Given the description of an element on the screen output the (x, y) to click on. 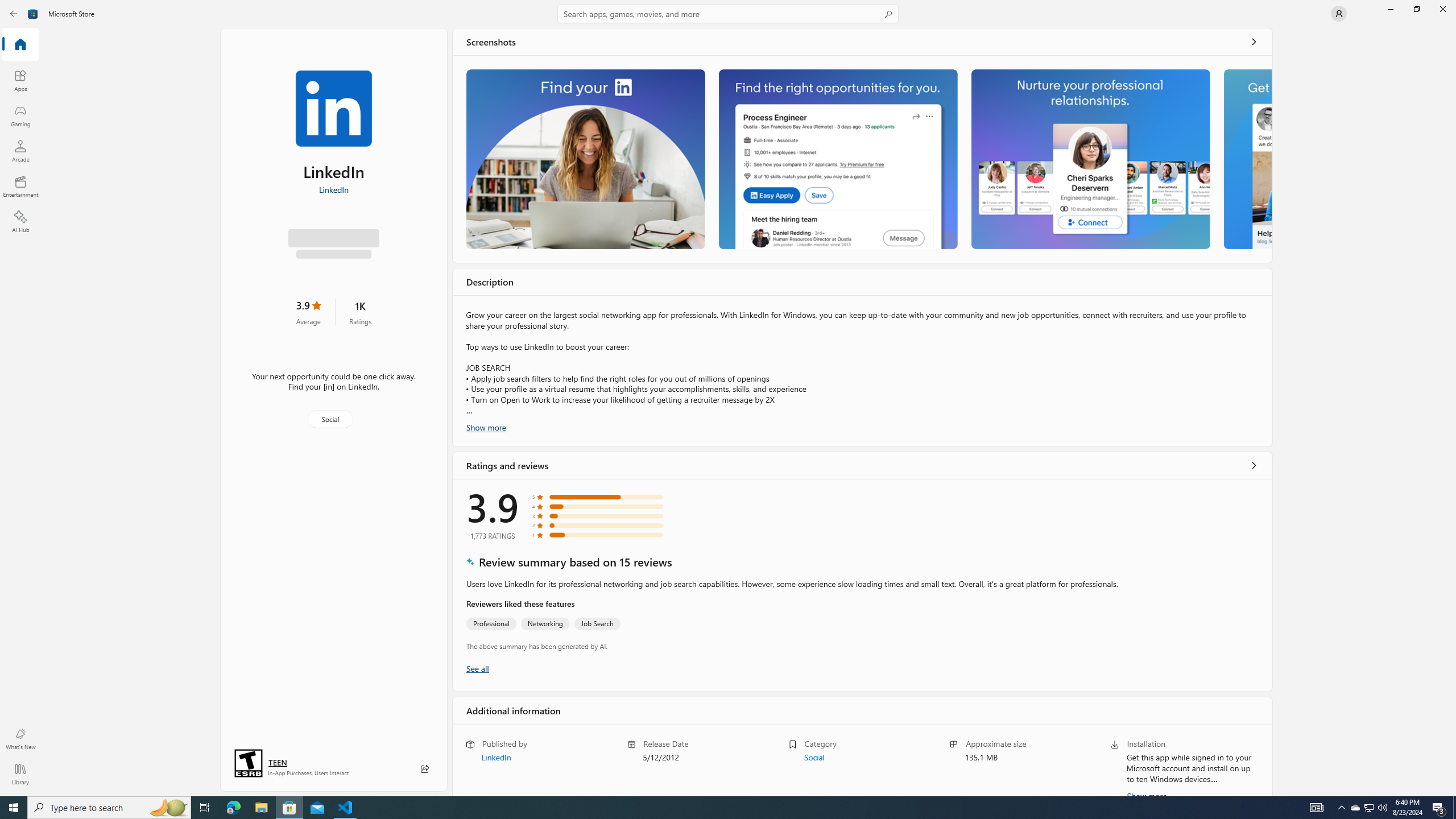
Back (13, 13)
Show all ratings and reviews (1253, 465)
Arcade (20, 150)
Gaming (20, 115)
Get (334, 241)
Close Microsoft Store (1442, 9)
Age rating: TEEN. Click for more information. (276, 762)
AutomationID: NavigationControl (728, 398)
Restore Microsoft Store (1416, 9)
Screenshot 4 (1247, 158)
What's New (20, 738)
Apps (20, 80)
Screenshot 3 (1089, 158)
Share (424, 769)
Screenshot 2 (836, 158)
